Given the description of an element on the screen output the (x, y) to click on. 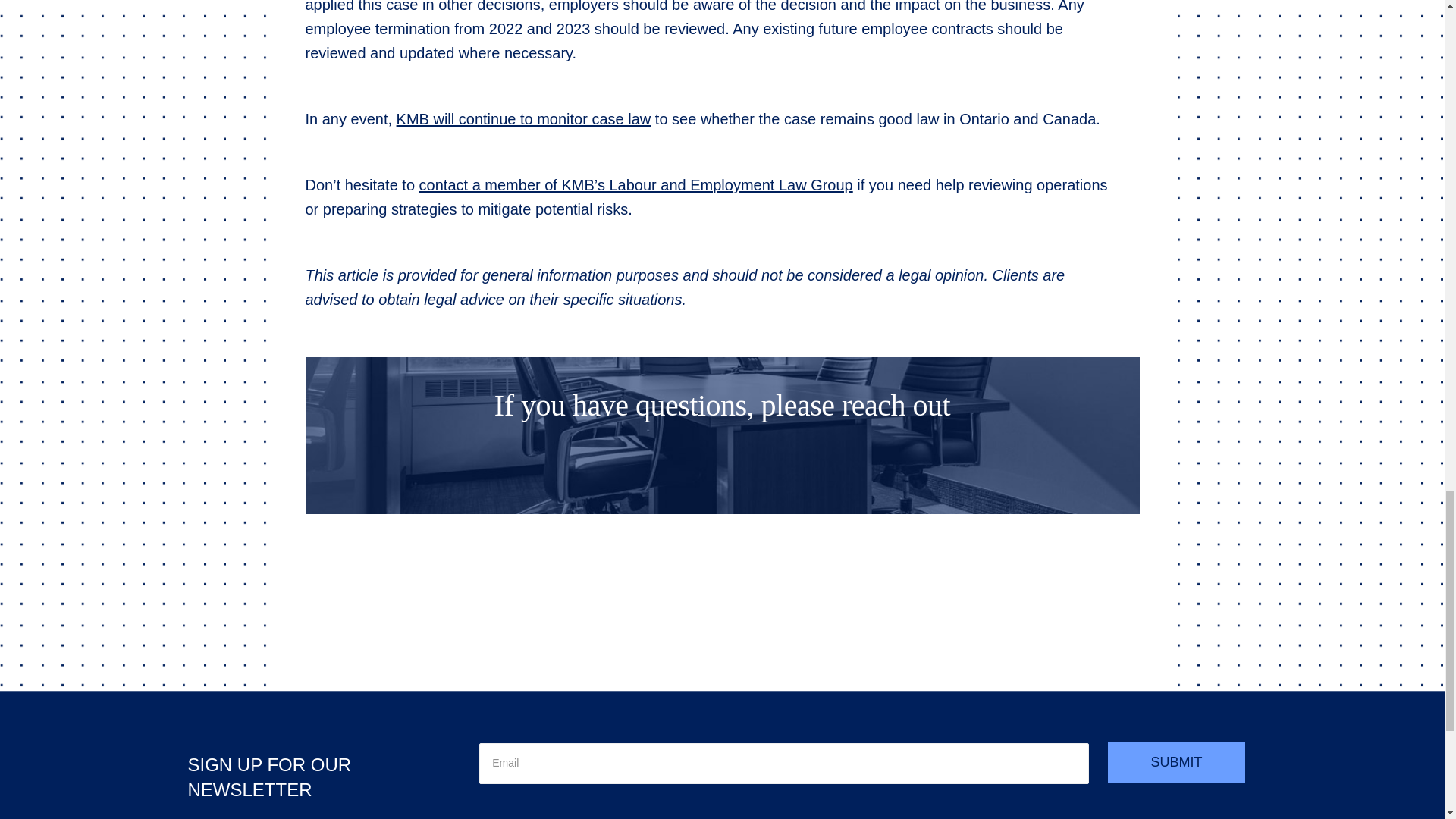
Submit (1176, 762)
